Given the description of an element on the screen output the (x, y) to click on. 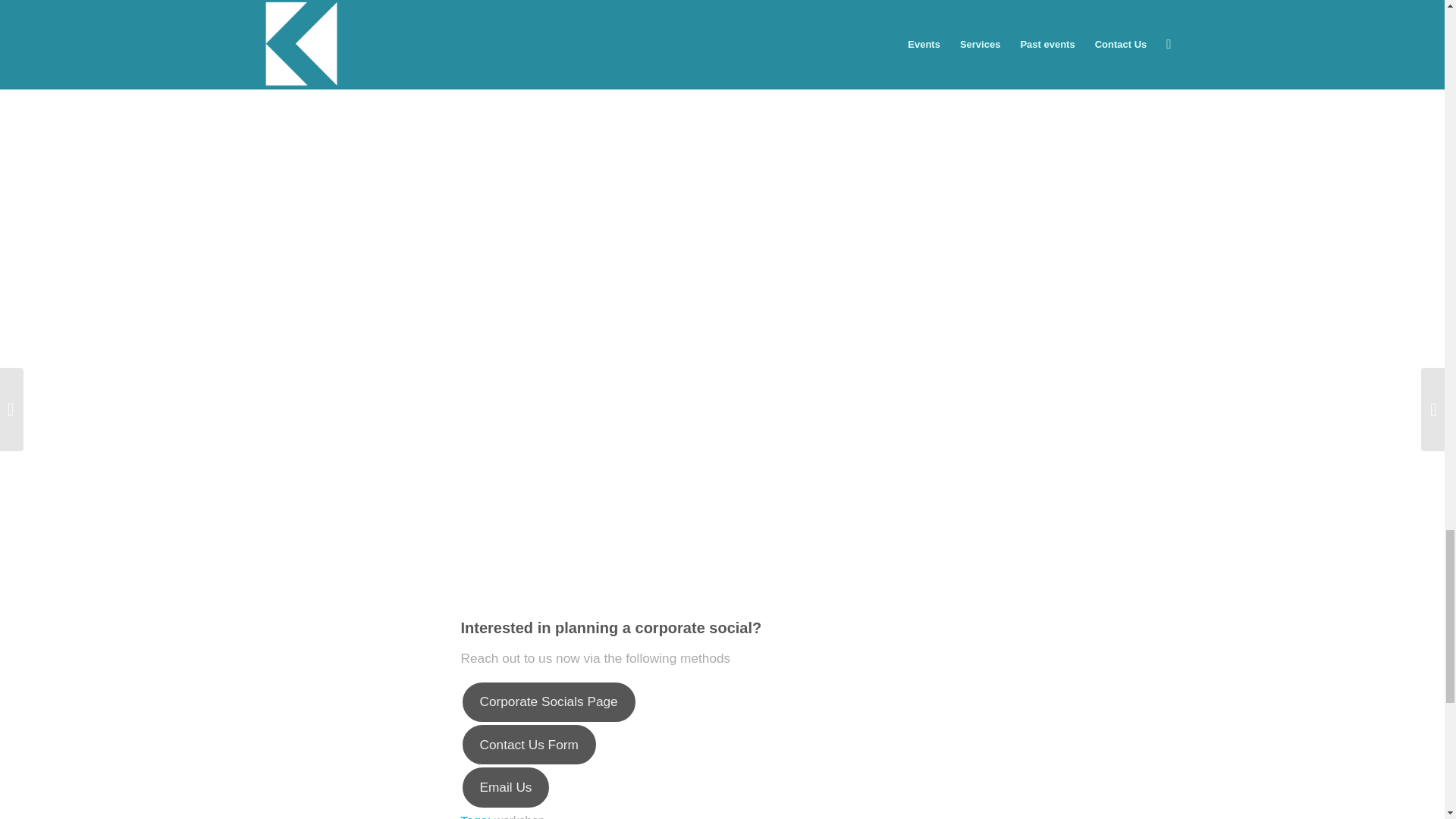
Email Us (506, 786)
Contact Us Form (528, 744)
workshop (519, 816)
Corporate Socials Page (549, 701)
